Given the description of an element on the screen output the (x, y) to click on. 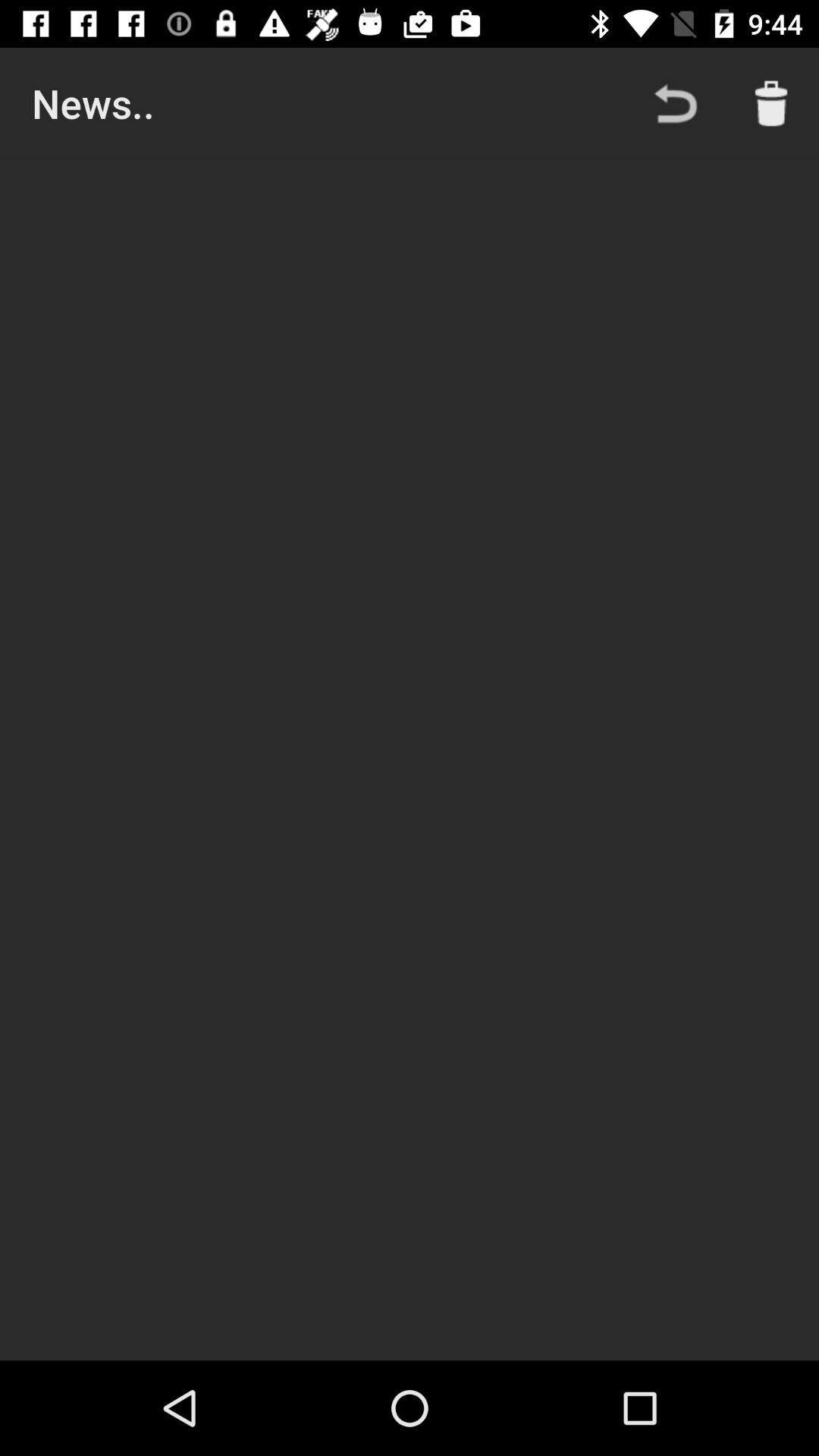
turn on the app next to the news.. item (675, 103)
